Given the description of an element on the screen output the (x, y) to click on. 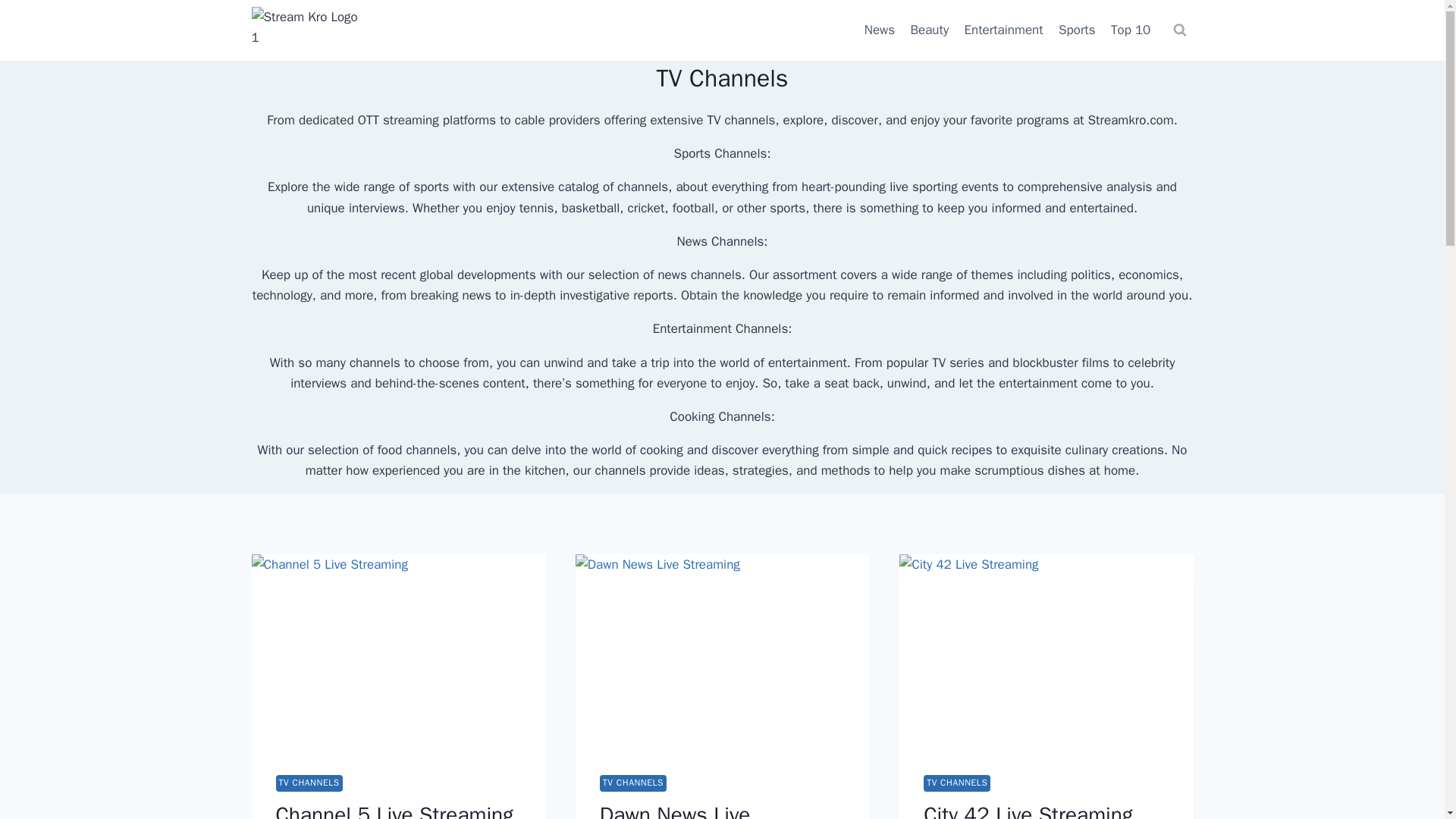
TV CHANNELS (956, 782)
TV CHANNELS (309, 782)
TV CHANNELS (632, 782)
Top 10 (1130, 30)
Dawn News Live Streaming (675, 810)
City 42 Live Streaming (1027, 810)
Sports (1077, 30)
Beauty (929, 30)
News (879, 30)
Entertainment (1003, 30)
Channel 5 Live Streaming (394, 810)
